Given the description of an element on the screen output the (x, y) to click on. 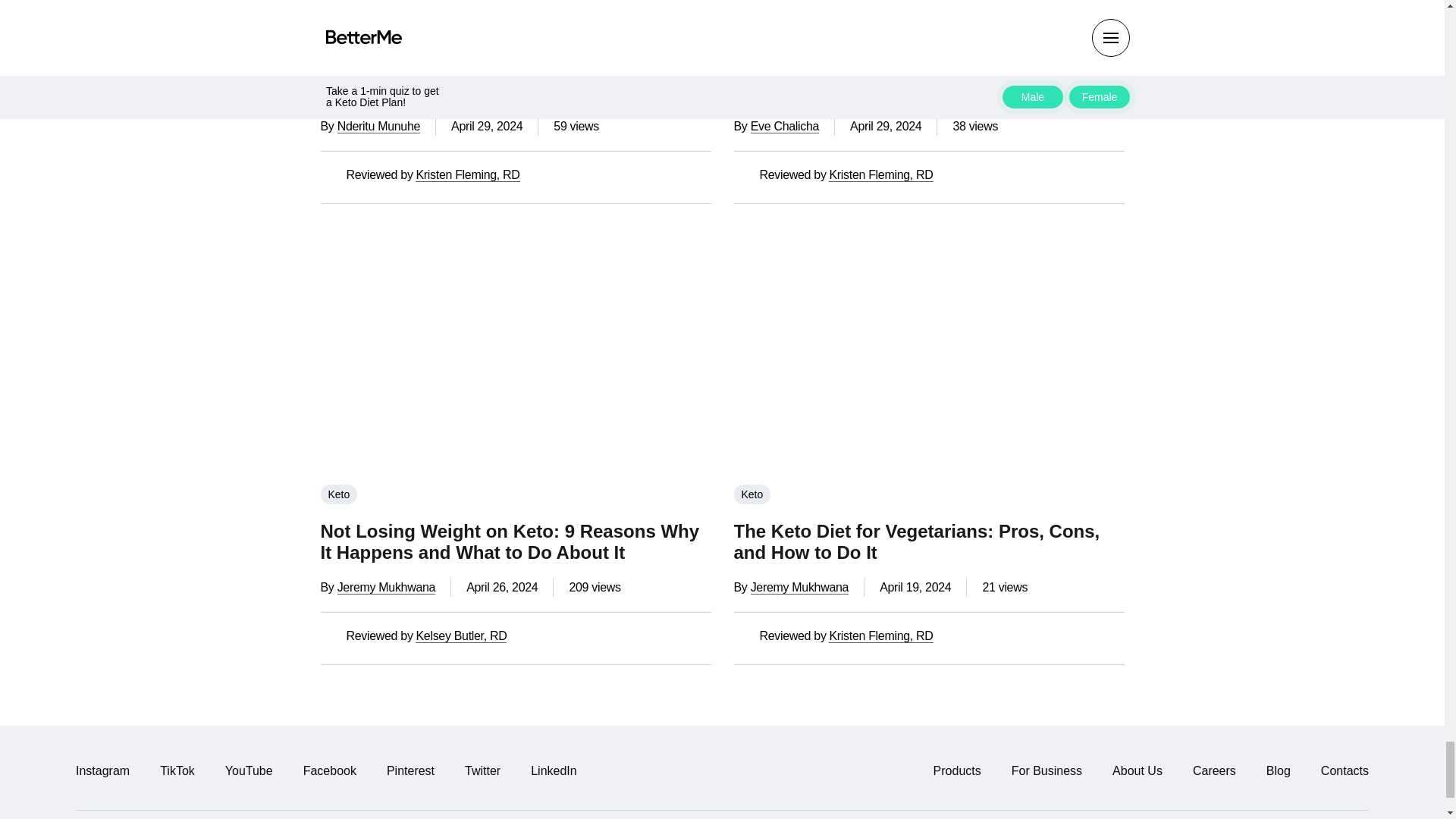
Yogurt On Keto: Which One Is Best for Your Macros? (515, 3)
The Keto Diet for Vegetarians: Pros, Cons, and How to Do It (928, 350)
